Given the description of an element on the screen output the (x, y) to click on. 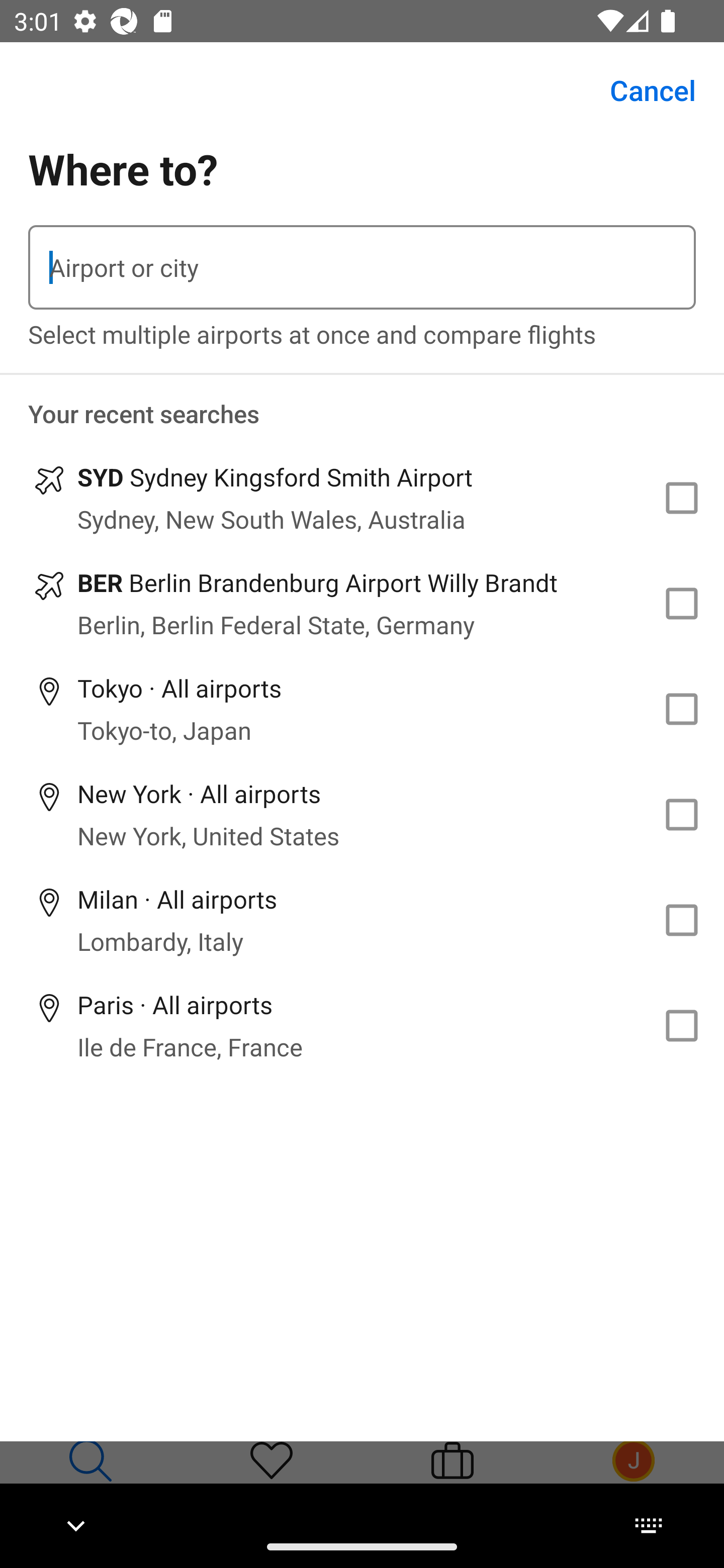
Cancel (641, 90)
Airport or city (361, 266)
Tokyo · All airports Tokyo-to, Japan (362, 709)
New York · All airports New York, United States (362, 814)
Milan · All airports Lombardy, Italy (362, 920)
Paris · All airports Ile de France, France (362, 1025)
